Given the description of an element on the screen output the (x, y) to click on. 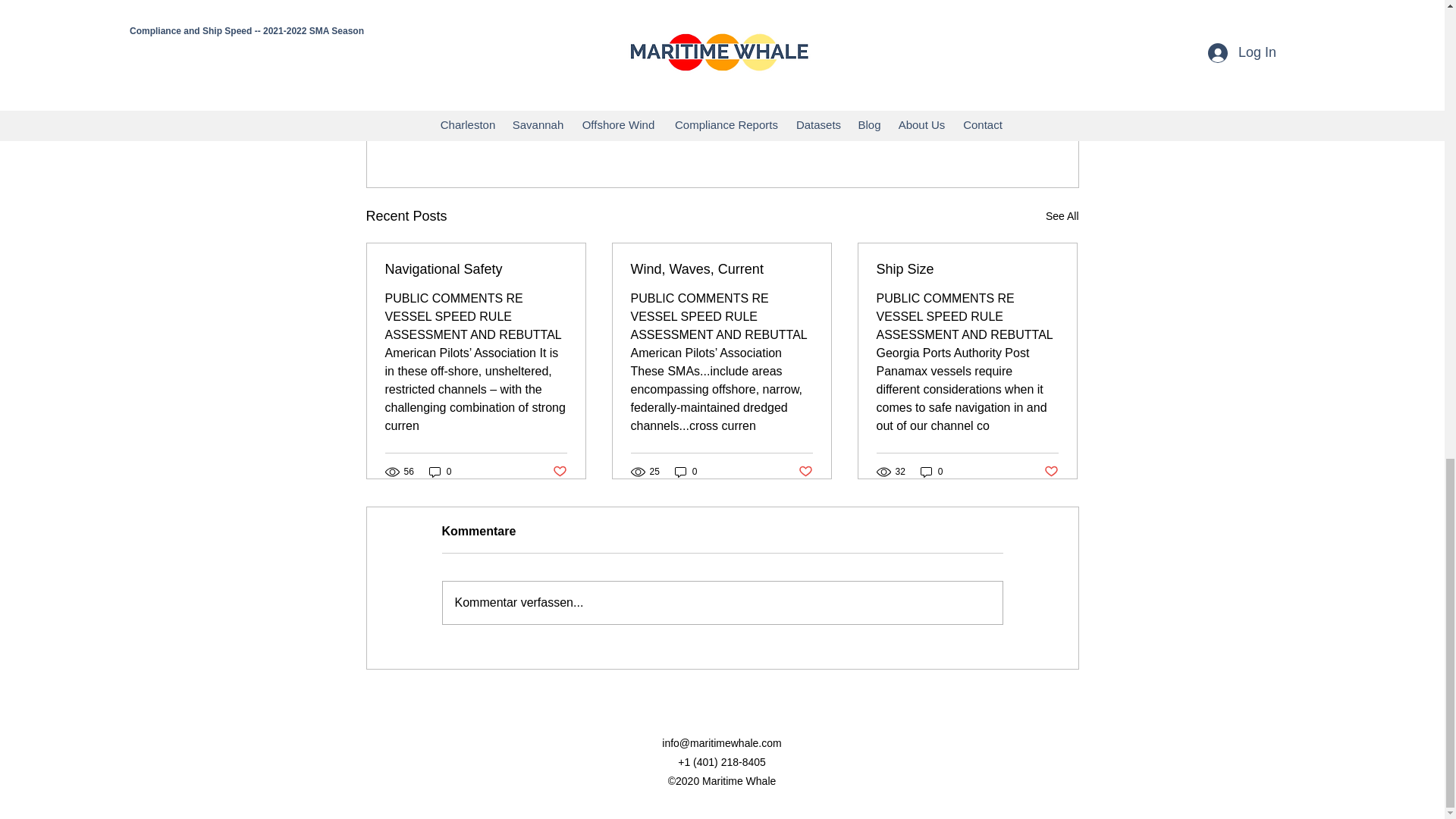
Post not marked as liked (1050, 471)
0 (931, 471)
Wind, Waves, Current (721, 269)
Ship Size (967, 269)
0 (440, 471)
See All (1061, 216)
Kommentar verfassen... (722, 602)
0 (685, 471)
Post not marked as liked (558, 471)
Post not marked as liked (804, 471)
Post not marked as liked (995, 133)
Navigational Safety (476, 269)
